Given the description of an element on the screen output the (x, y) to click on. 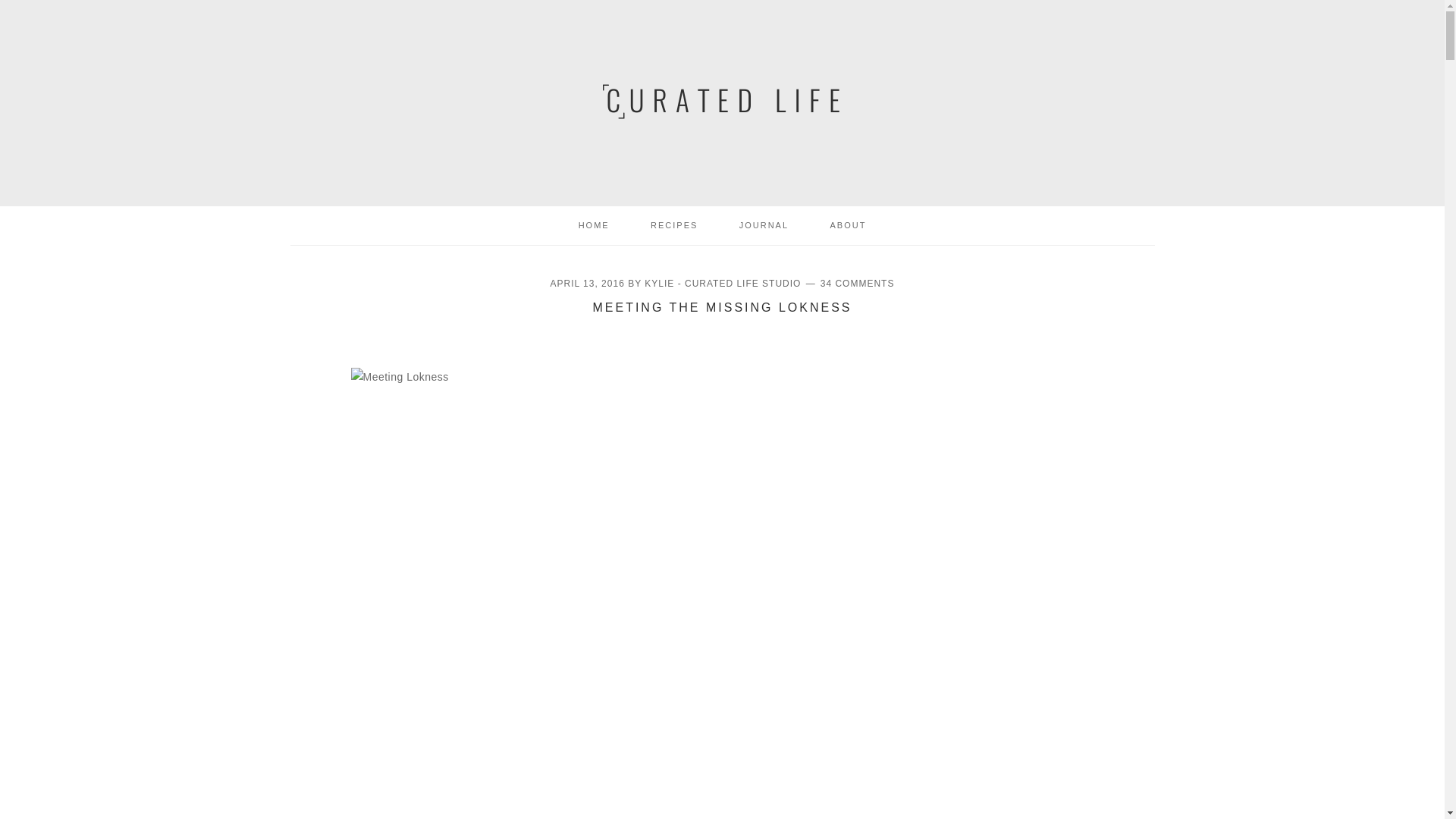
RECIPES (673, 225)
34 COMMENTS (858, 283)
CURATED LIFE STUDIO (721, 98)
ABOUT (847, 225)
JOURNAL (764, 225)
HOME (593, 225)
KYLIE - CURATED LIFE STUDIO (722, 283)
